Given the description of an element on the screen output the (x, y) to click on. 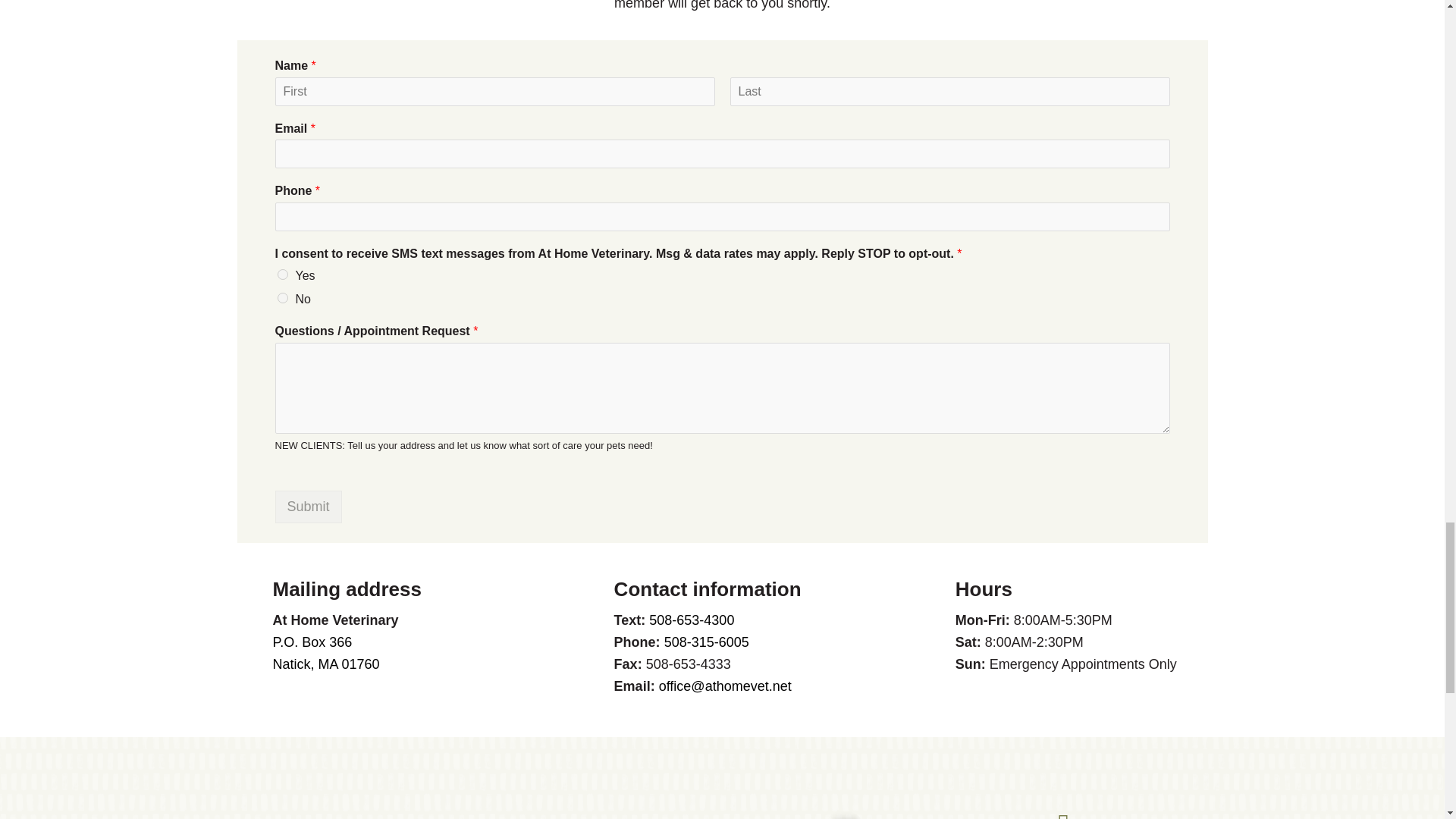
Service Area Zones - At Home Veterinary (550, 814)
No (283, 297)
Yes (283, 274)
